Given the description of an element on the screen output the (x, y) to click on. 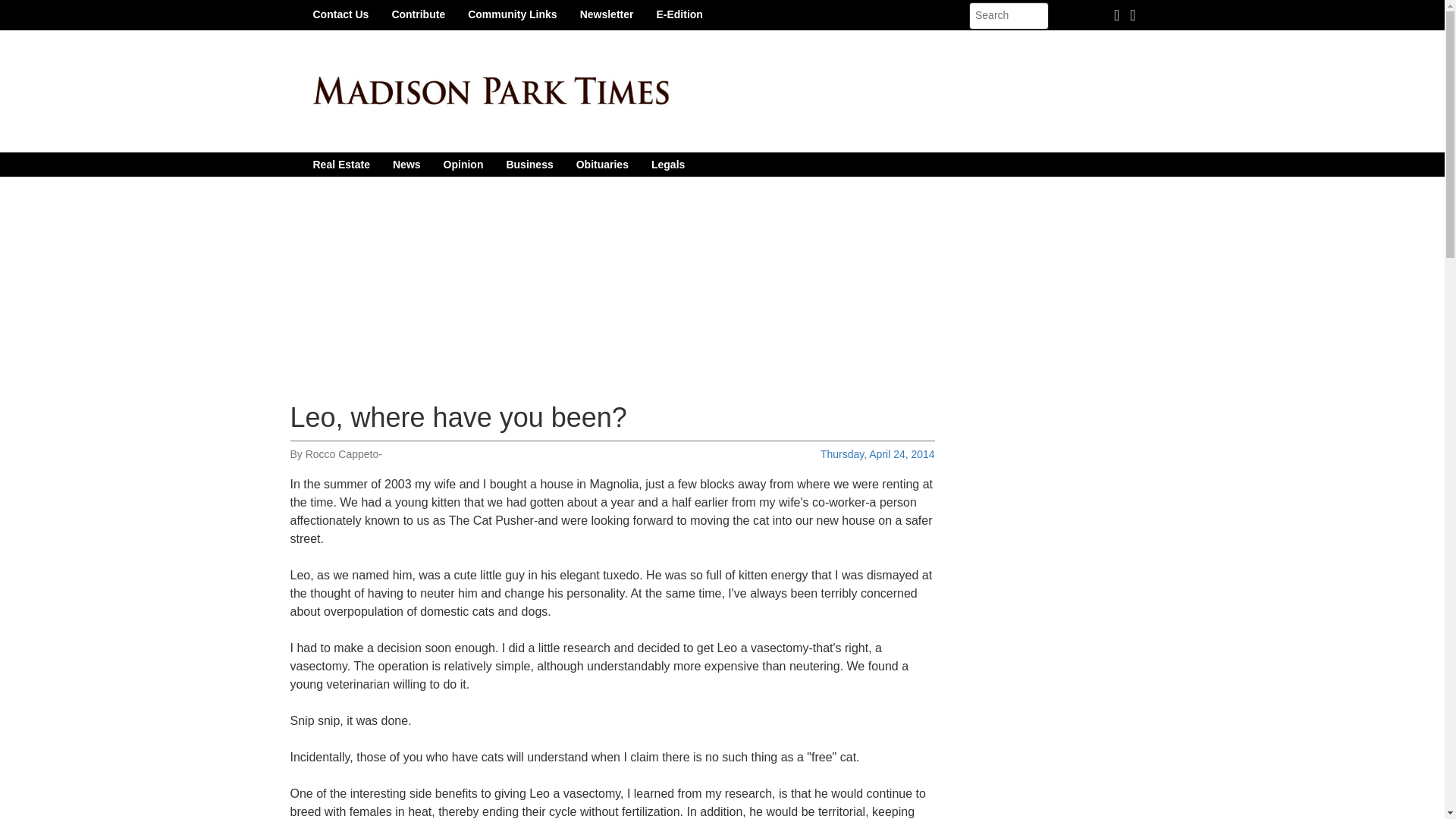
Legals (667, 164)
Thursday, April 24, 2014 (877, 453)
Contribute (418, 14)
Community Links (512, 14)
E-Edition (679, 14)
Real Estate (341, 164)
Business (529, 164)
Newsletter (607, 14)
Opinion (463, 164)
Contact Us (340, 14)
News (406, 164)
Obituaries (602, 164)
